Given the description of an element on the screen output the (x, y) to click on. 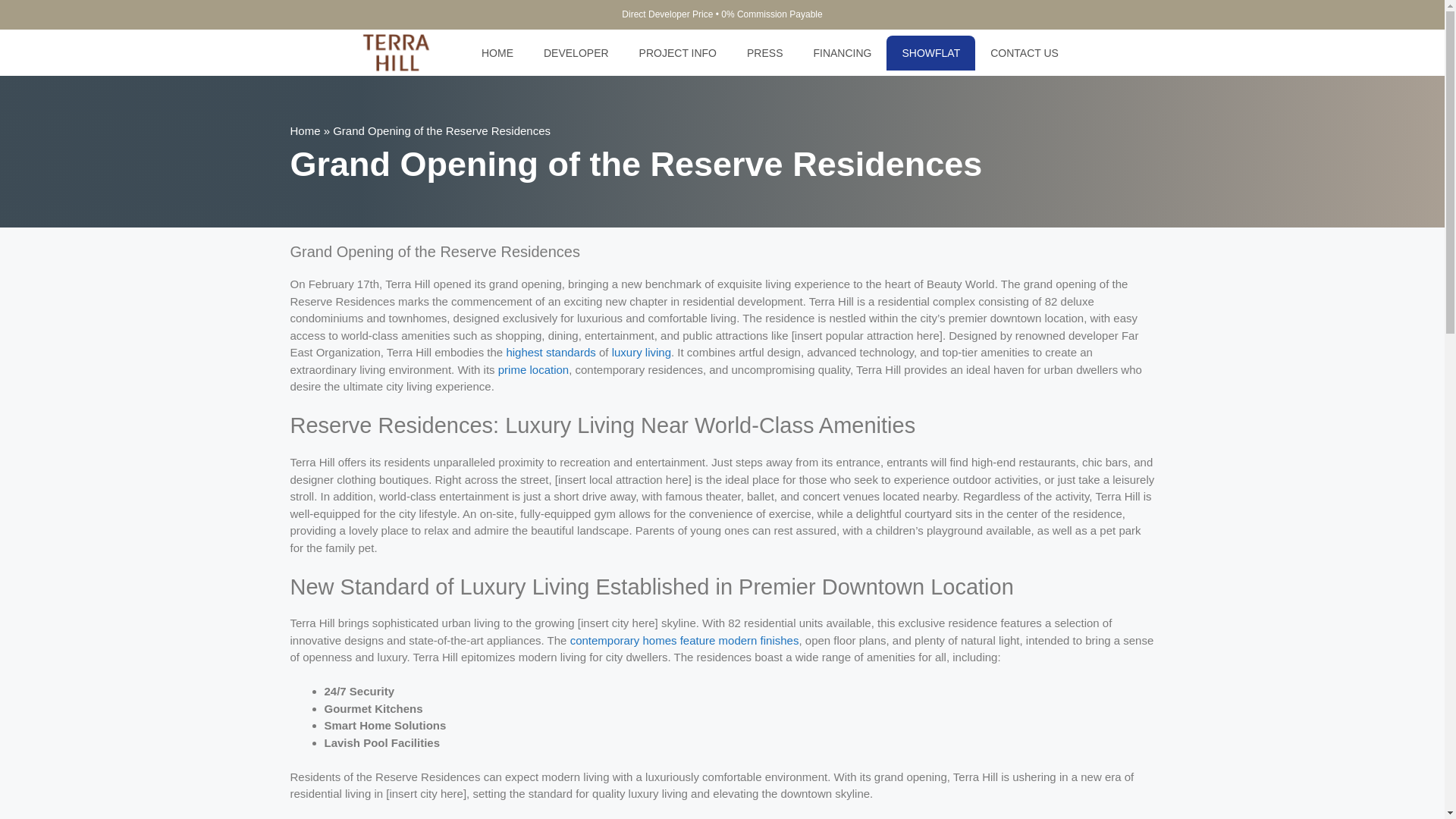
PROJECT INFO (678, 53)
PRESS (764, 53)
HOME (496, 53)
CONTACT US (1024, 53)
DEVELOPER (576, 53)
SHOWFLAT (930, 53)
Grand Opening of the Reserve Residences (684, 640)
FINANCING (841, 53)
